Given the description of an element on the screen output the (x, y) to click on. 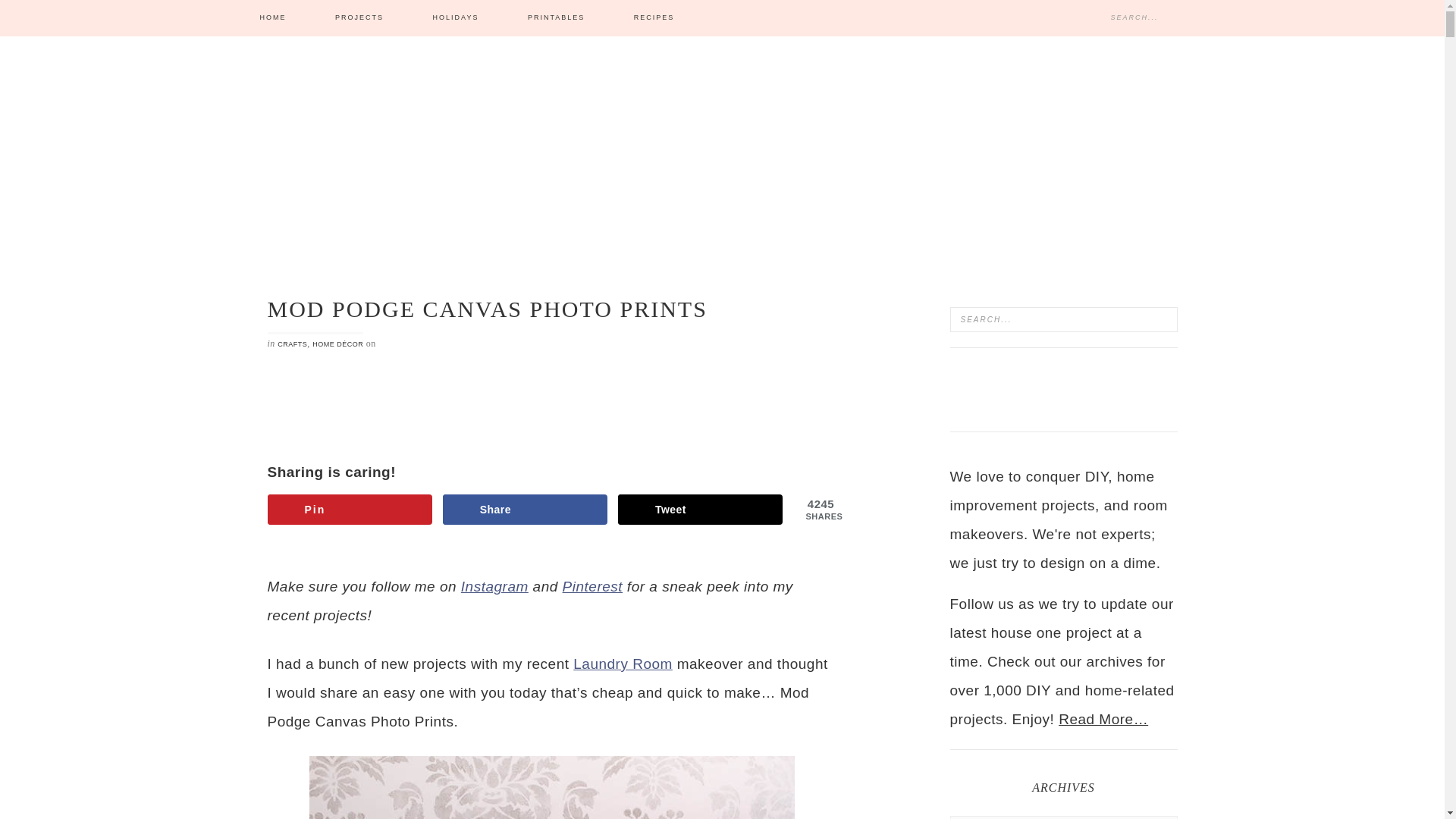
CRAFTS (292, 344)
Save to Pinterest (349, 509)
Share (525, 509)
HOME (271, 18)
Pin (349, 509)
Tweet (700, 509)
RECIPES (654, 18)
